Given the description of an element on the screen output the (x, y) to click on. 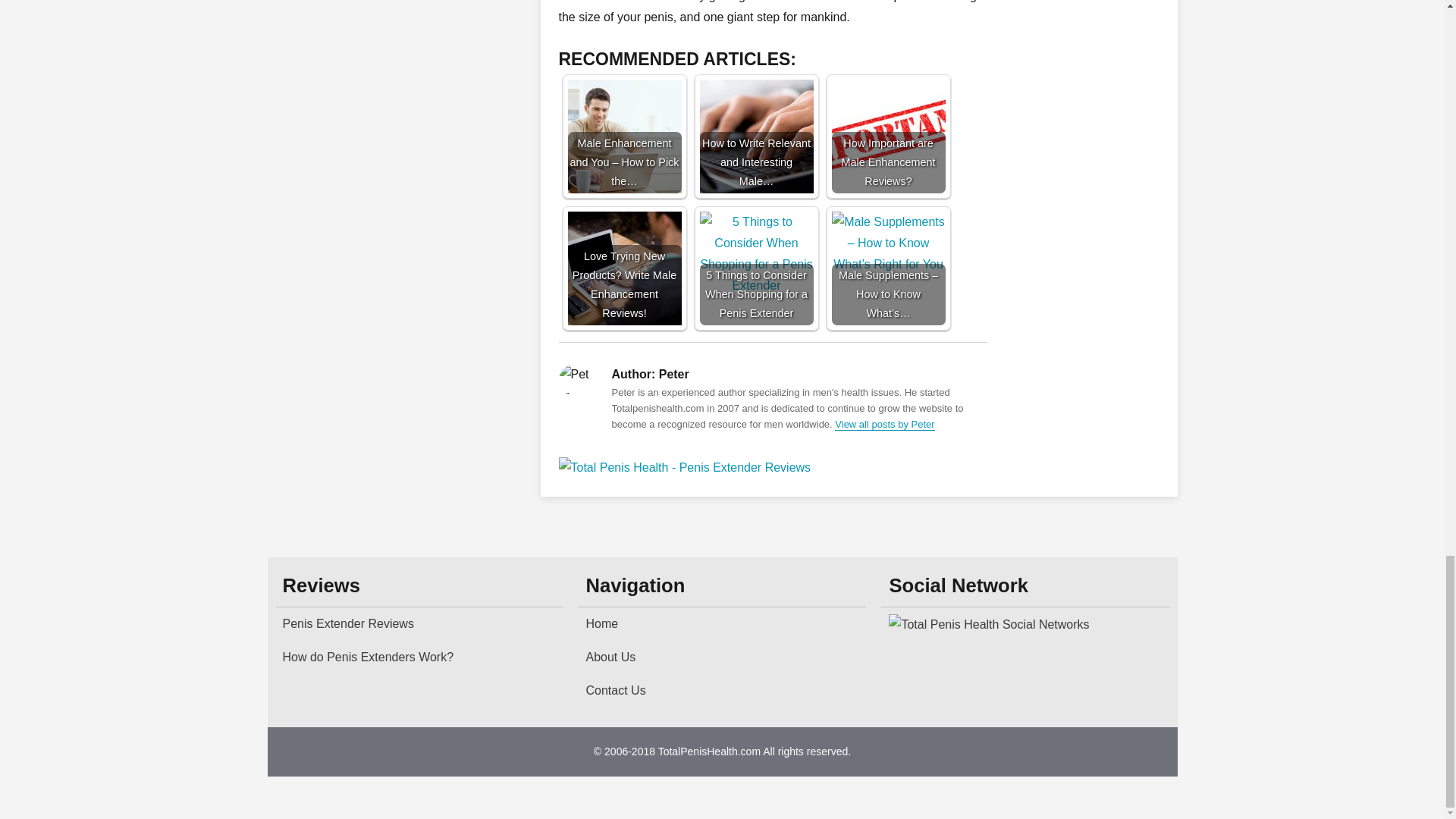
How do Penis Extenders Work? (418, 657)
5 Things to Consider When Shopping for a Penis Extender (755, 268)
Love Trying New Products? Write Male Enhancement Reviews! (624, 268)
Love Trying New Products? Write Male Enhancement Reviews! (624, 268)
5 Things to Consider When Shopping for a Penis Extender (755, 268)
How Important are Male Enhancement Reviews? (887, 136)
Total Penis Health - Penis Extender Reviews (772, 467)
Penis Extender Reviews (418, 623)
How Important are Male Enhancement Reviews? (887, 136)
